Given the description of an element on the screen output the (x, y) to click on. 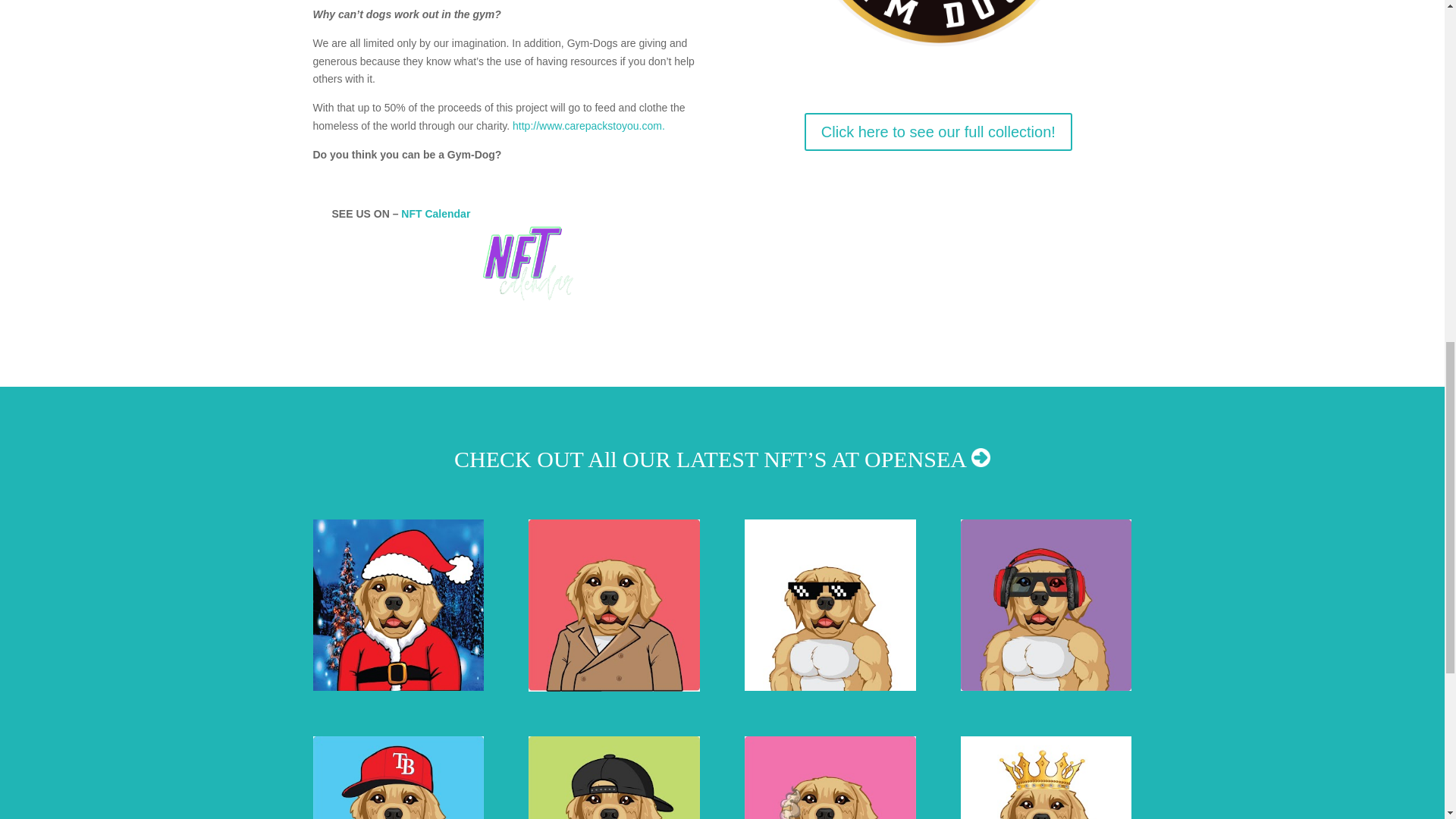
Gym Dogs headphones (1045, 686)
Click here to see our full collection! (938, 131)
GYM DOGs Logo White BG (937, 45)
Gym Dogs Glasses (829, 686)
NFT Calendar (435, 214)
Gym Dogs coat (613, 687)
Gym Dogs Santa (398, 686)
